Given the description of an element on the screen output the (x, y) to click on. 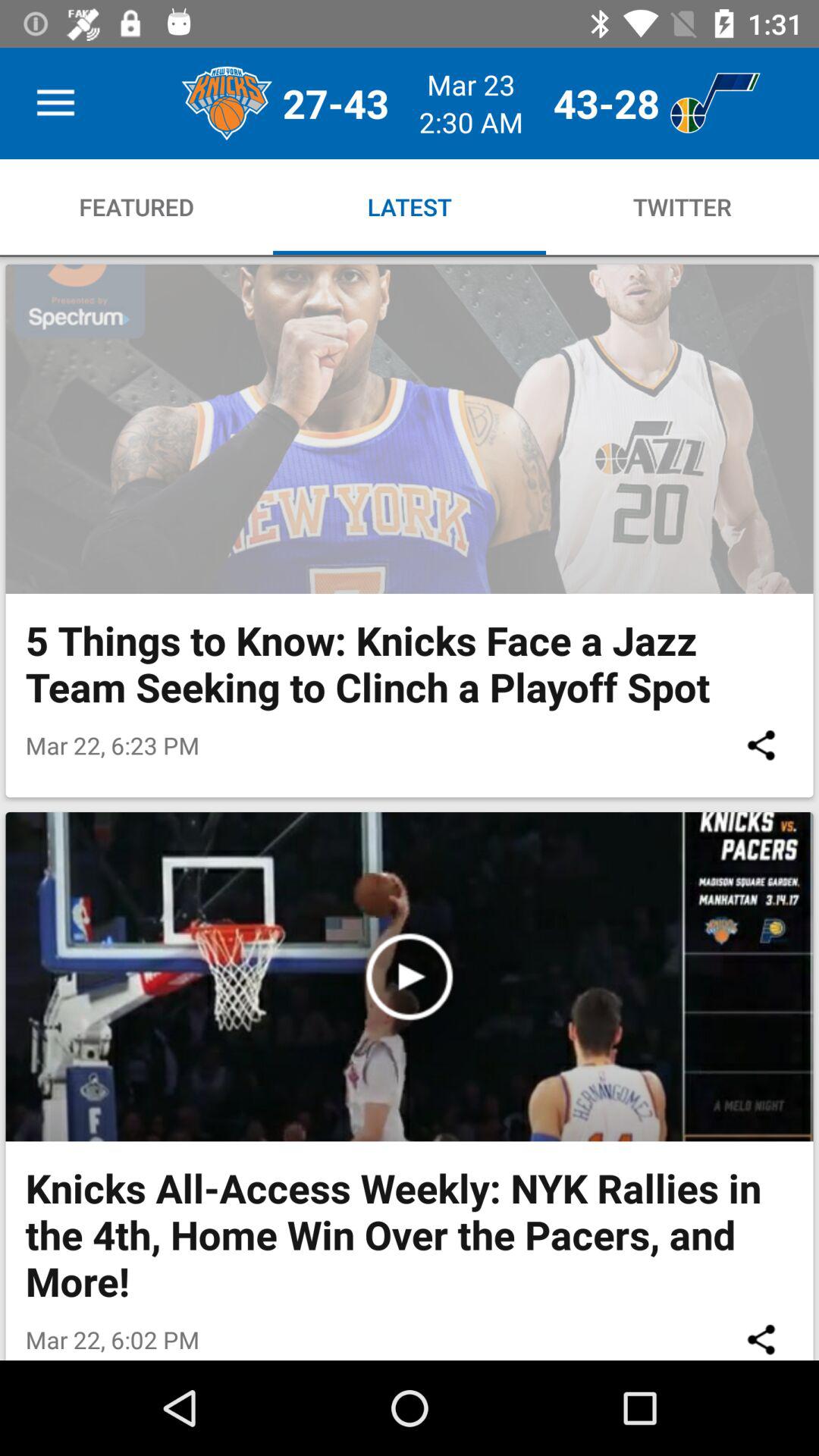
select item above featured (55, 103)
